Given the description of an element on the screen output the (x, y) to click on. 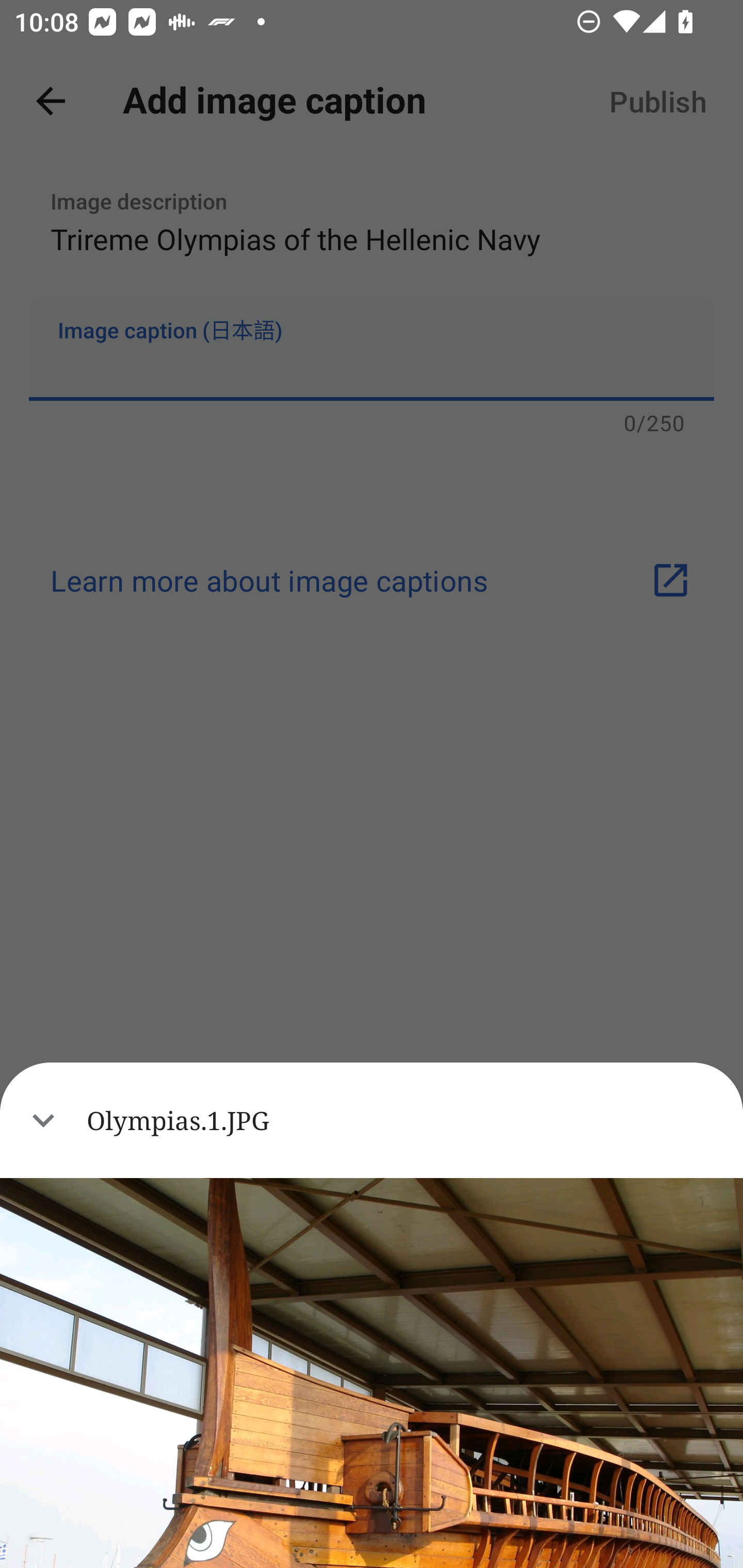
Olympias.1.JPG (371, 1120)
